Given the description of an element on the screen output the (x, y) to click on. 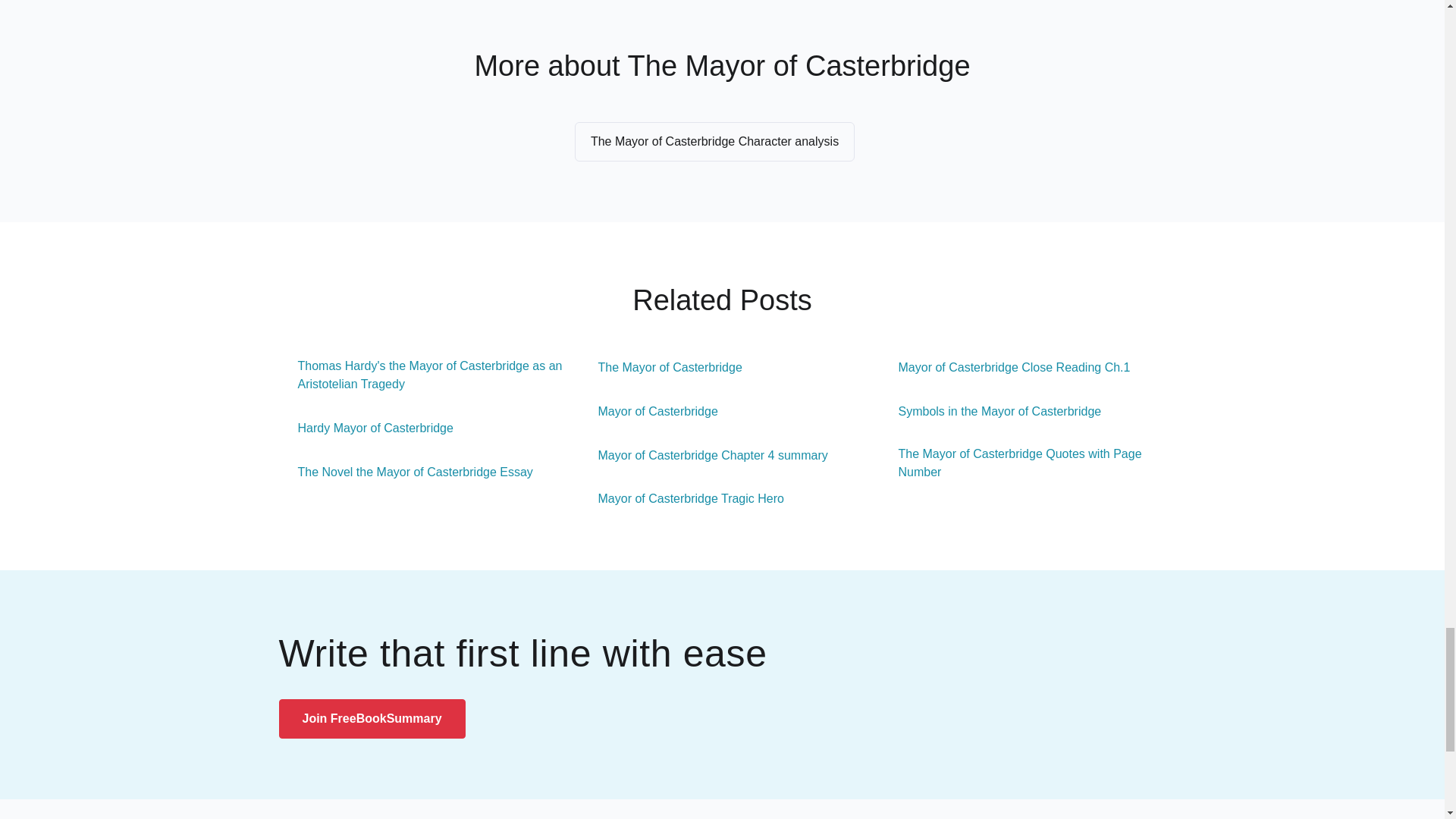
Symbols in the Mayor of Casterbridge (990, 411)
The Mayor of Casterbridge Quotes with Page Number (1022, 463)
Mayor of Casterbridge Chapter 4 summary (703, 455)
The Mayor of Casterbridge Character analysis (714, 141)
Mayor of Casterbridge Close Reading Ch.1 (1005, 367)
The Novel the Mayor of Casterbridge Essay (405, 472)
Mayor of Casterbridge (648, 411)
The Mayor of Casterbridge (660, 367)
Mayor of Casterbridge Tragic Hero (681, 498)
Hardy Mayor of Casterbridge (365, 428)
